Given the description of an element on the screen output the (x, y) to click on. 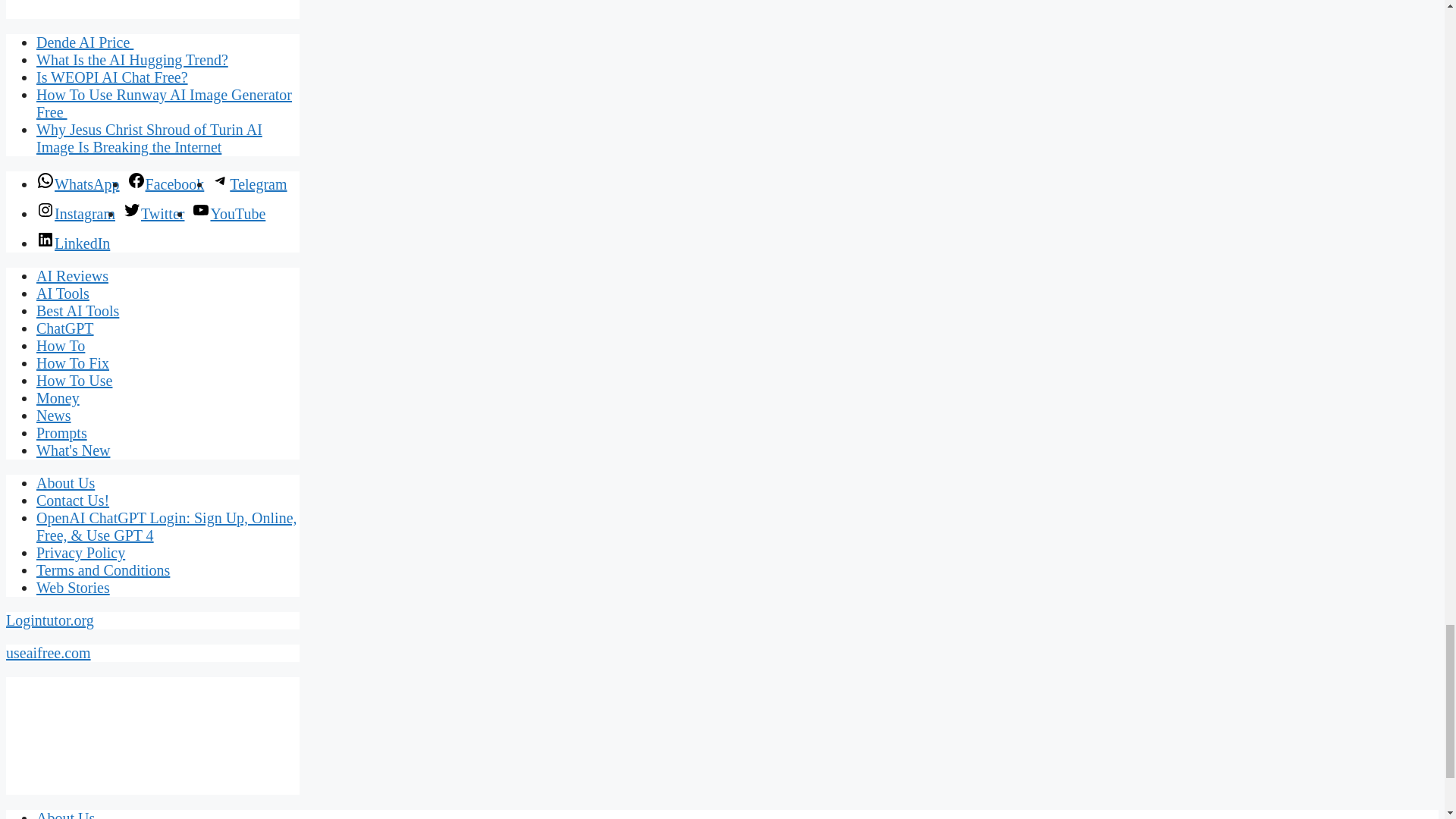
Instagram (75, 213)
What Is the AI Hugging Trend? (132, 59)
Is WEOPI AI Chat Free? (111, 76)
Facebook (166, 184)
Twitter (153, 213)
How To Use Runway AI Image Generator Free  (164, 103)
Telegram (248, 184)
WhatsApp (77, 184)
Dende AI Price  (84, 42)
